Given the description of an element on the screen output the (x, y) to click on. 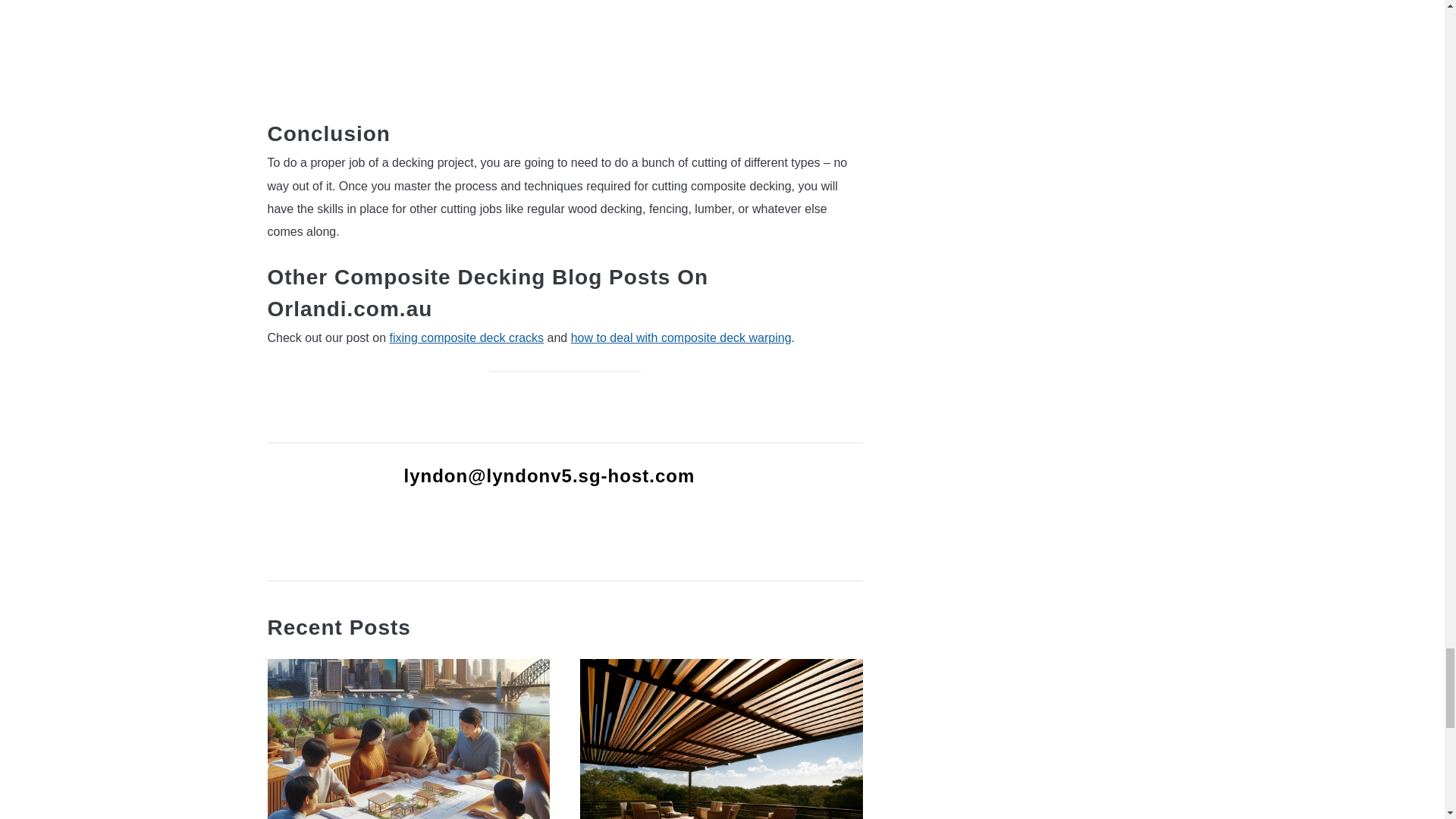
fixing composite deck cracks (465, 337)
how to deal with composite deck warping (681, 337)
link to Sydney Deck Builders: How Should I Choose? (408, 739)
link to A Comprehensive Guide to Louvered Roofs (721, 739)
